Given the description of an element on the screen output the (x, y) to click on. 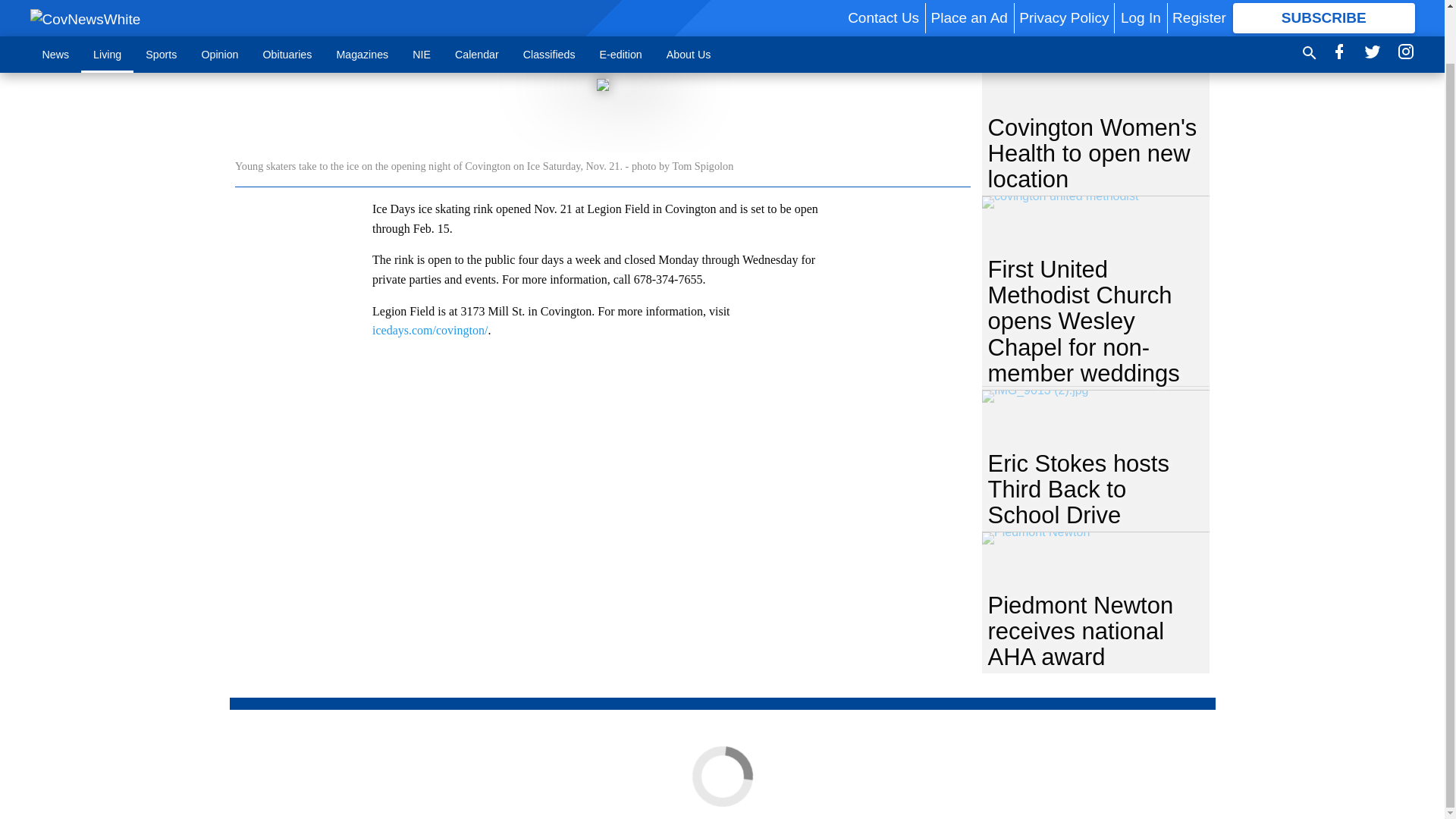
Living (107, 6)
News (55, 6)
Sports (161, 6)
